Given the description of an element on the screen output the (x, y) to click on. 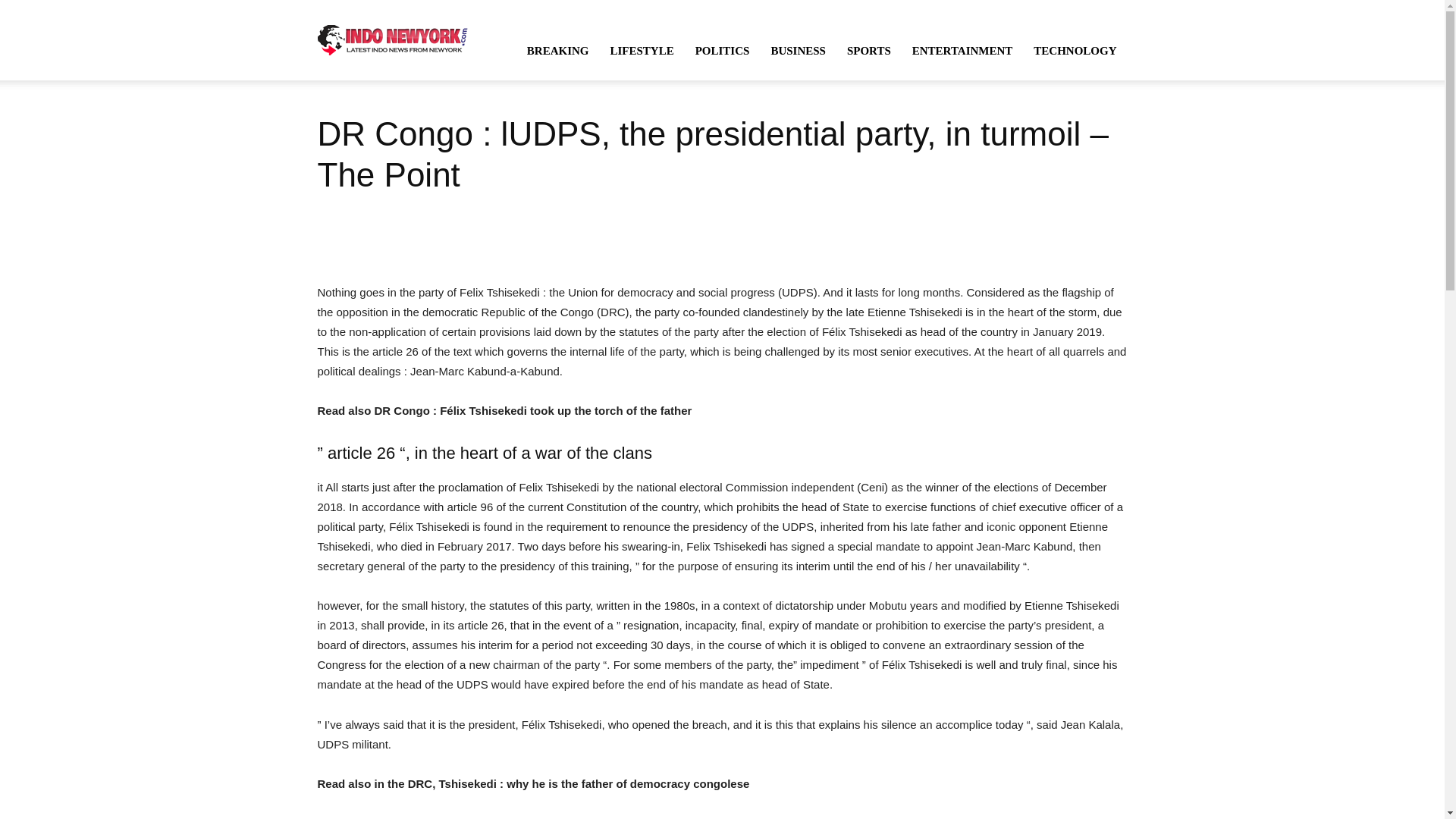
SPORTS (868, 50)
Indo Newyork (392, 39)
POLITICS (722, 50)
ENTERTAINMENT (962, 50)
BUSINESS (797, 50)
BREAKING (557, 50)
LIFESTYLE (641, 50)
TECHNOLOGY (1074, 50)
